Given the description of an element on the screen output the (x, y) to click on. 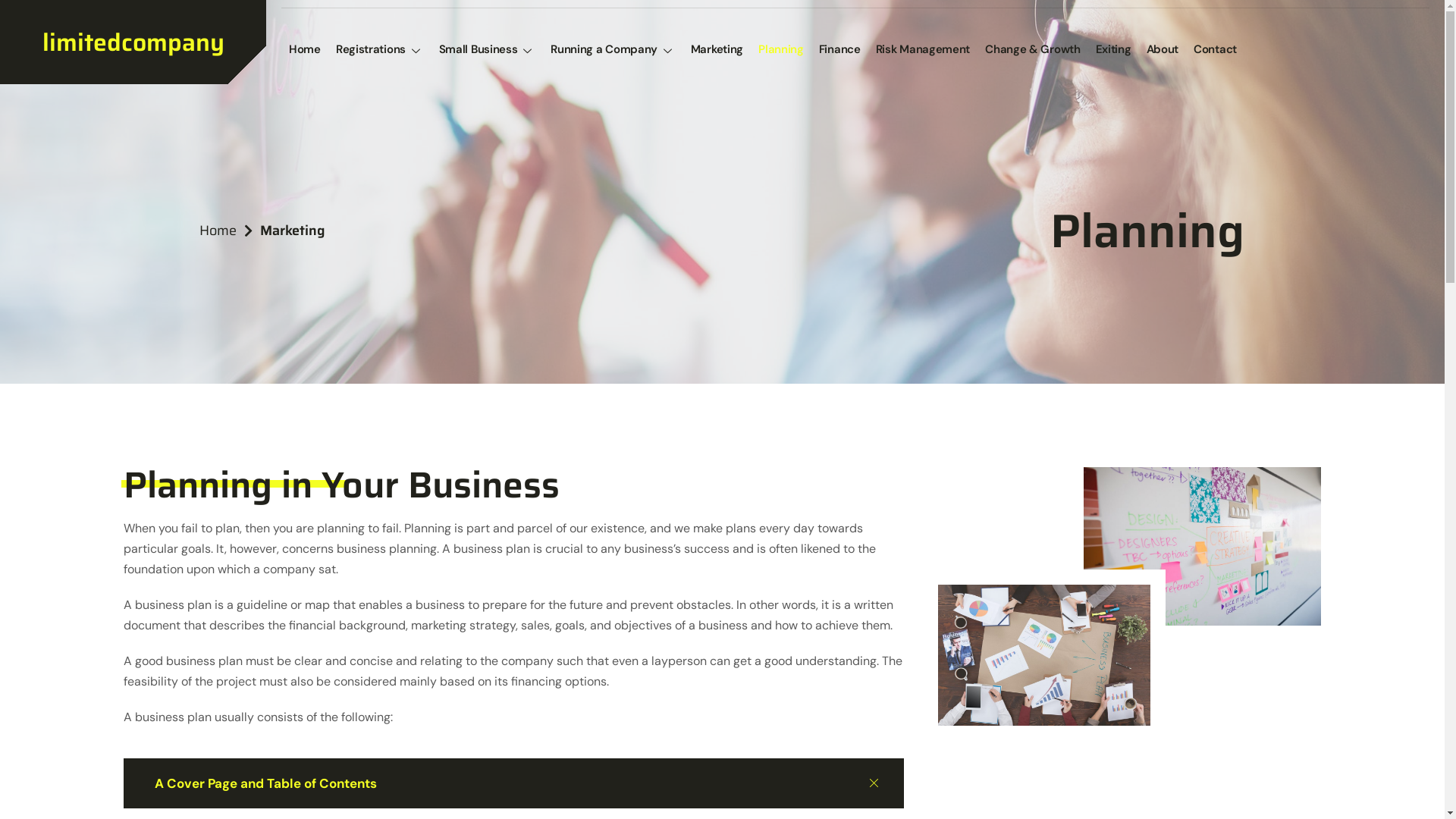
Planning Element type: text (780, 49)
Risk Management Element type: text (923, 49)
Finance Element type: text (839, 49)
Small Business Element type: text (487, 49)
Registrations Element type: text (379, 49)
Skip to content Element type: text (15, 7)
Home Element type: text (224, 230)
A Cover Page and Table of Contents Element type: text (512, 783)
Exiting Element type: text (1113, 49)
Home Element type: text (304, 49)
Marketing Element type: text (716, 49)
Contact Element type: text (1215, 49)
Change & Growth Element type: text (1032, 49)
Running a Company Element type: text (612, 49)
About Element type: text (1162, 49)
